Given the description of an element on the screen output the (x, y) to click on. 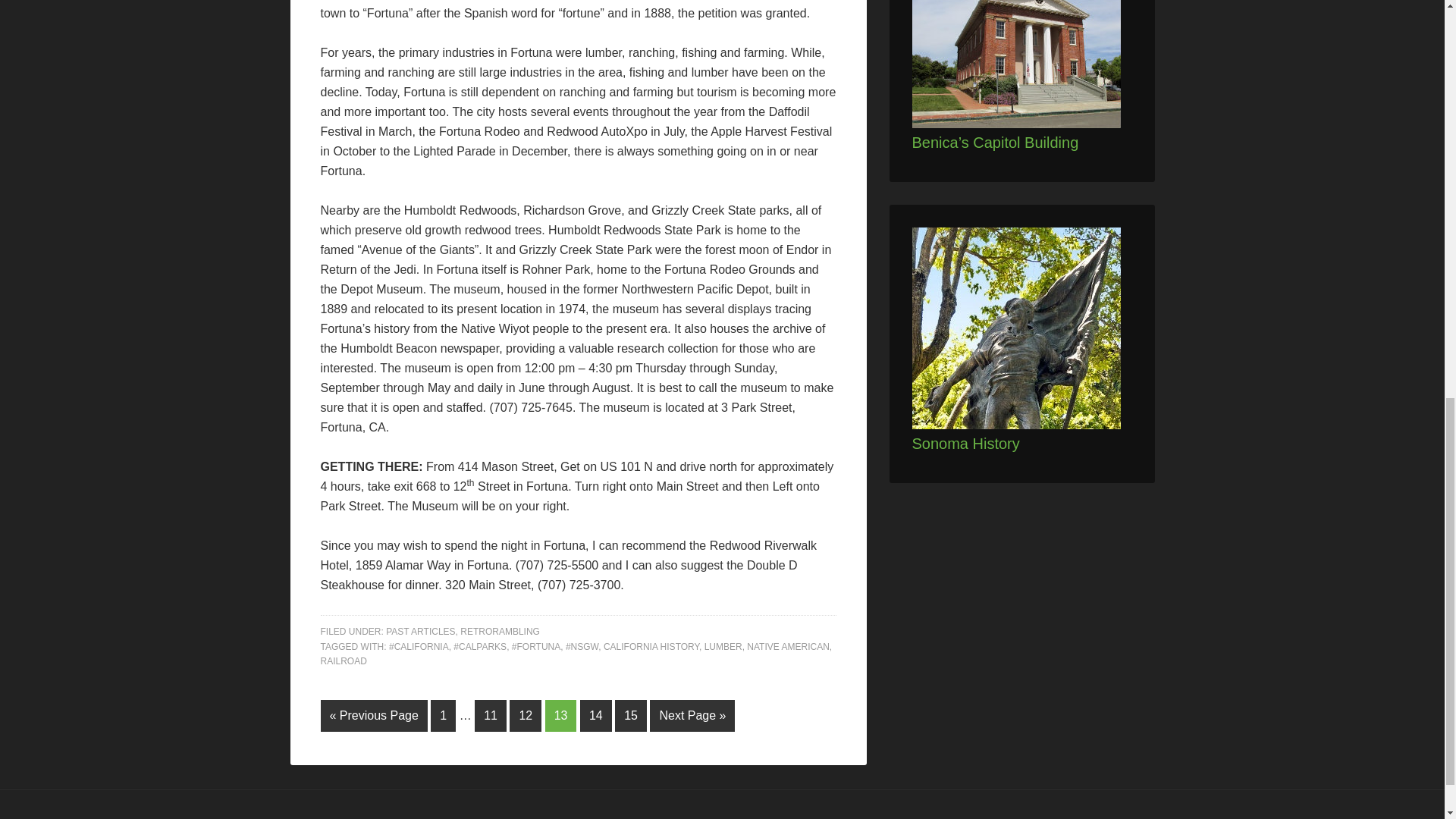
PAST ARTICLES (419, 631)
14 (595, 716)
CALIFORNIA HISTORY (651, 646)
11 (490, 716)
12 (525, 716)
LUMBER (723, 646)
RETRORAMBLING (500, 631)
15 (630, 716)
Sonoma History (965, 443)
RAILROAD (343, 661)
NATIVE AMERICAN (787, 646)
13 (560, 716)
